Given the description of an element on the screen output the (x, y) to click on. 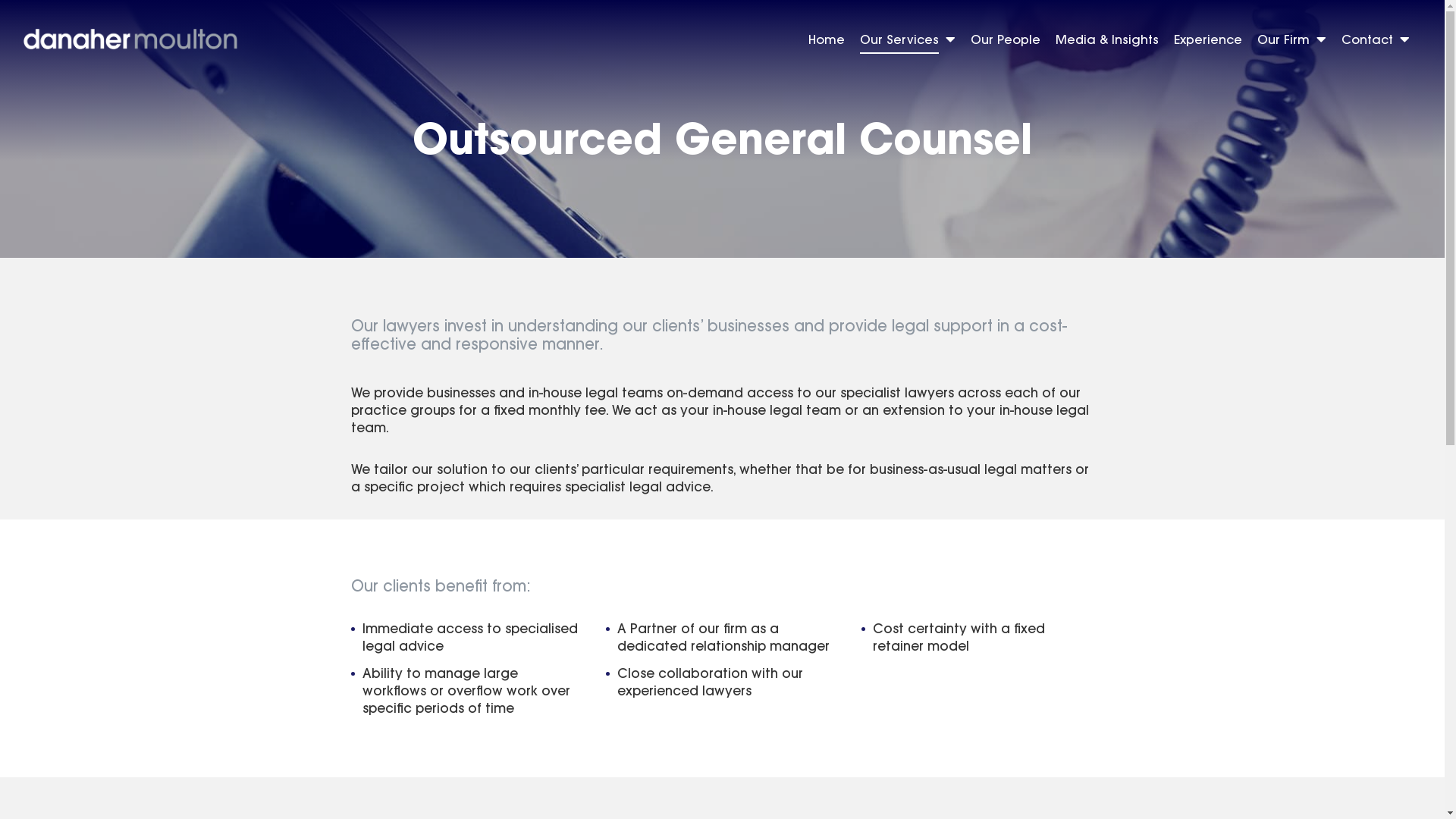
Experience Element type: text (1207, 41)
Home Element type: text (826, 41)
Contact Element type: text (1375, 41)
Media & Insights Element type: text (1107, 41)
Our Services Element type: text (907, 41)
Our People Element type: text (1005, 41)
Our Firm Element type: text (1291, 41)
